Given the description of an element on the screen output the (x, y) to click on. 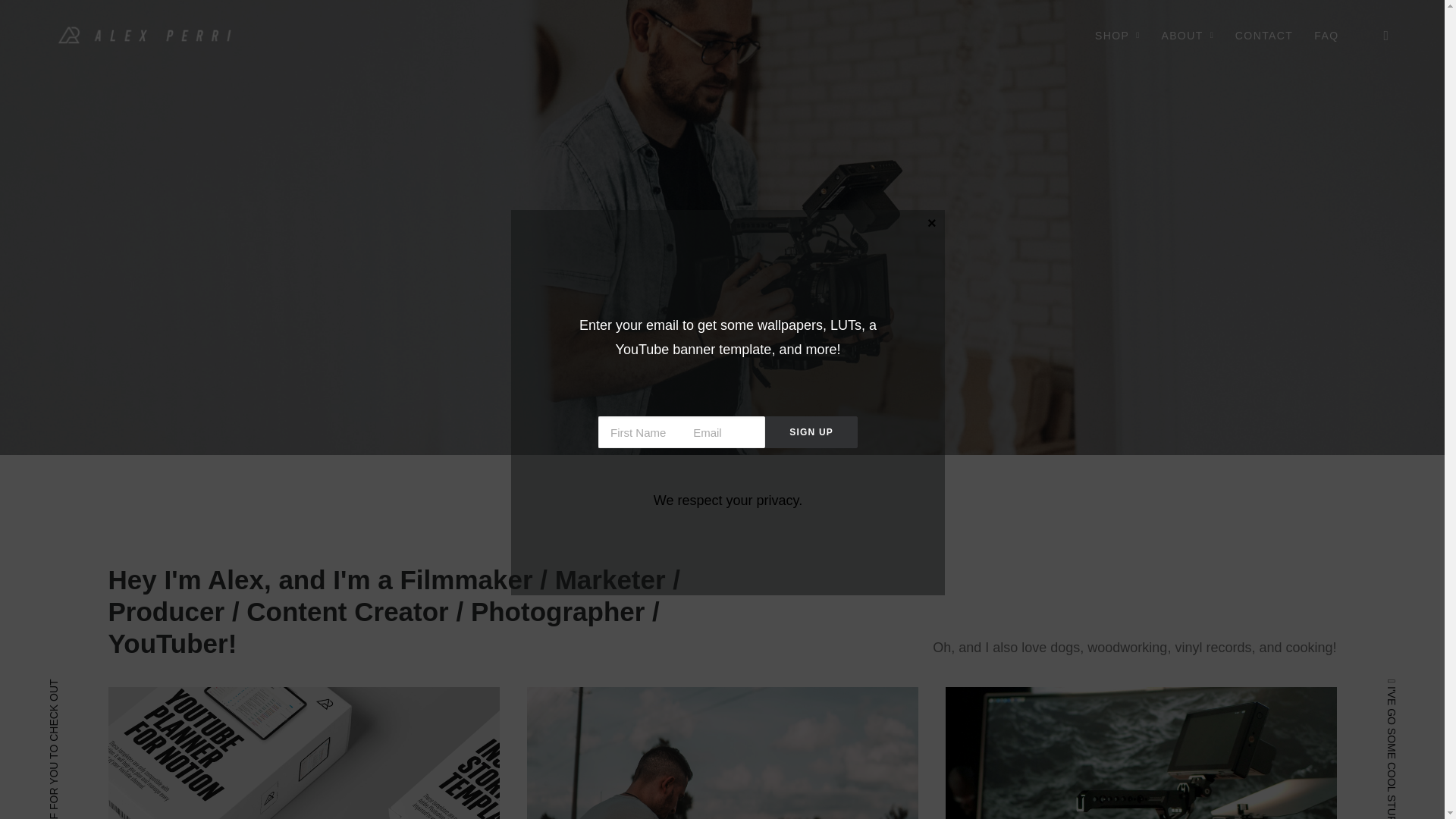
ABOUT Element type: text (1186, 35)
SHOP Element type: text (1117, 35)
CONTACT Element type: text (1263, 35)
cart Element type: hover (1382, 35)
FAQ Element type: text (1320, 35)
Sign Up Element type: text (811, 432)
